Given the description of an element on the screen output the (x, y) to click on. 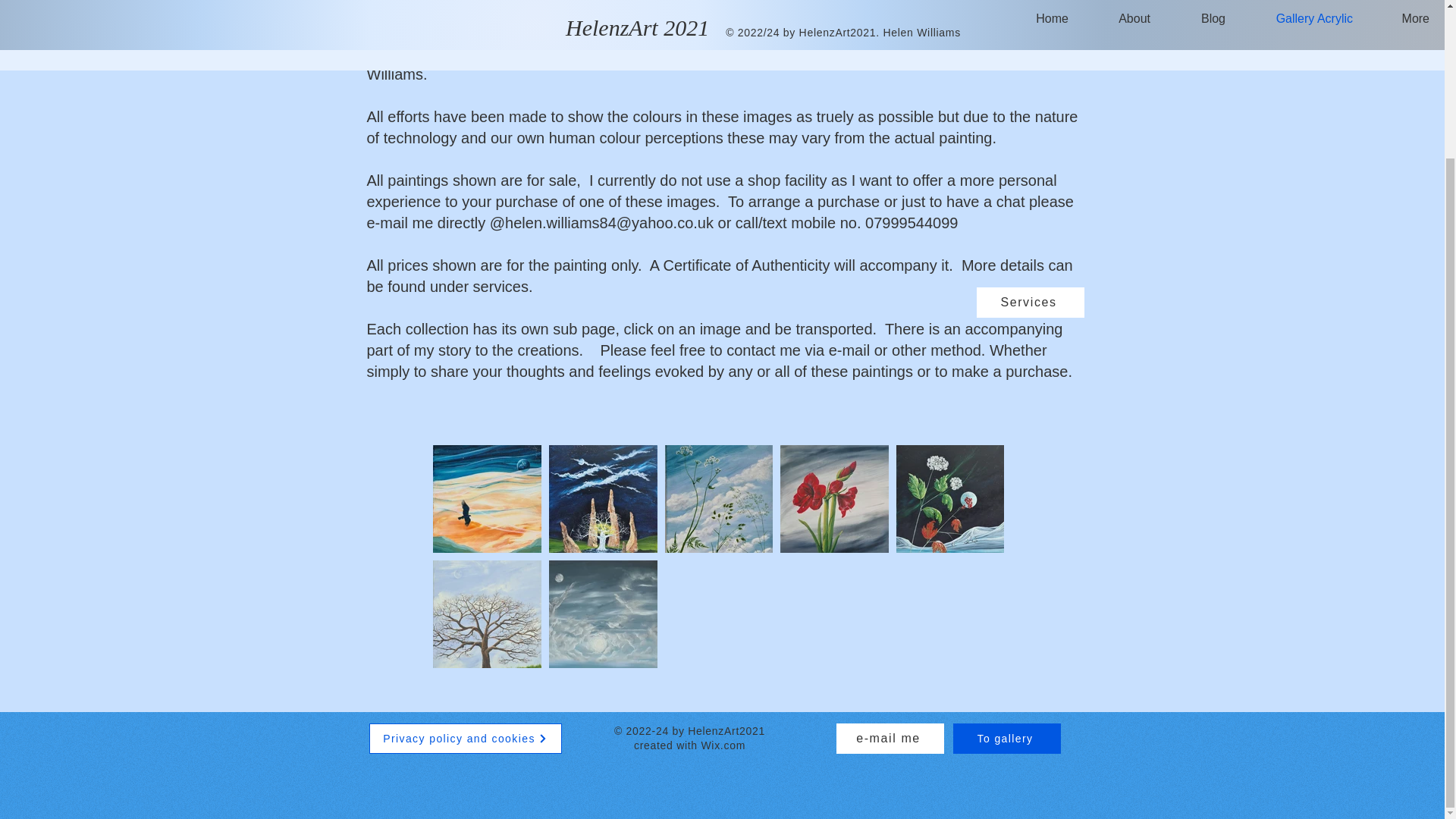
e-mail me (889, 738)
Privacy policy and cookies (464, 738)
Services (1030, 302)
To gallery (1005, 738)
